Given the description of an element on the screen output the (x, y) to click on. 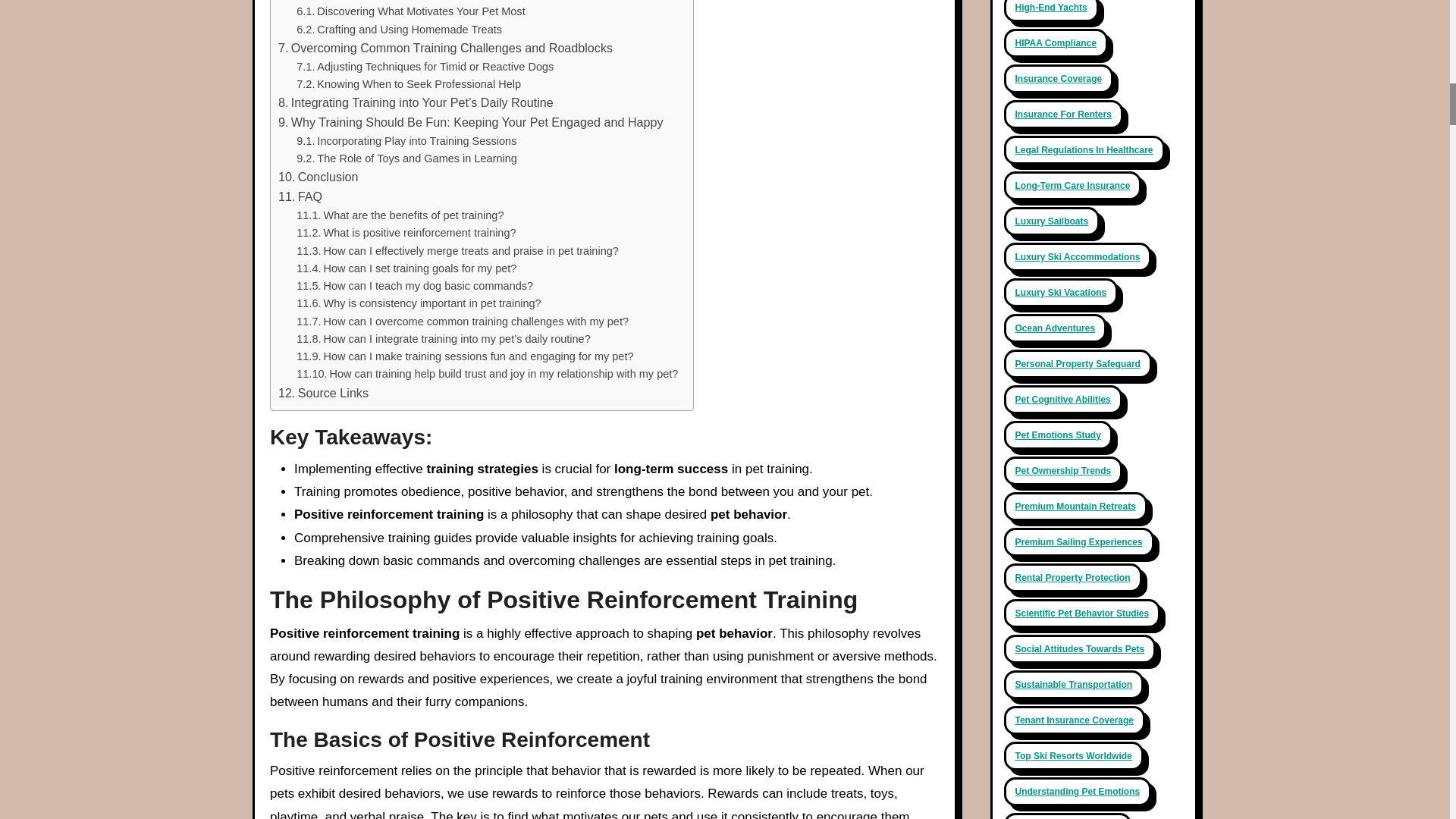
Incorporating Play into Training Sessions (406, 140)
Knowing When to Seek Professional Help (409, 84)
The Role of Toys and Games in Learning (406, 158)
Adjusting Techniques for Timid or Reactive Dogs (425, 67)
Conclusion (318, 177)
Overcoming Common Training Challenges and Roadblocks (445, 48)
Discovering What Motivates Your Pet Most (410, 11)
Crafting and Using Homemade Treats (399, 29)
Developing a Reward System: Identifying Optimal Incentives (448, 2)
